Given the description of an element on the screen output the (x, y) to click on. 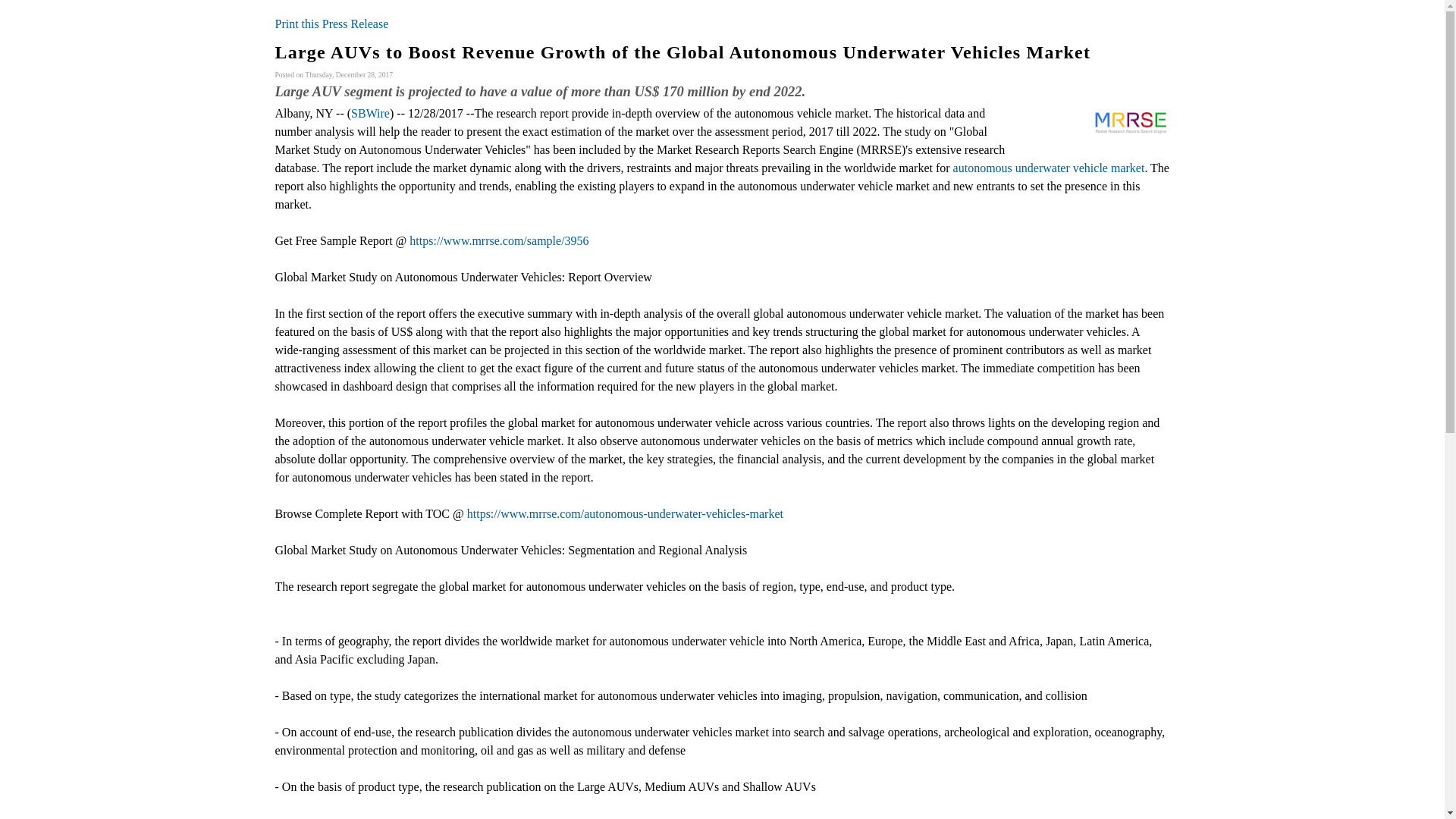
autonomous underwater vehicle market (1048, 167)
SBWire (370, 113)
Print this Press Release (331, 23)
autonomous underwater vehicle market (1048, 167)
